Given the description of an element on the screen output the (x, y) to click on. 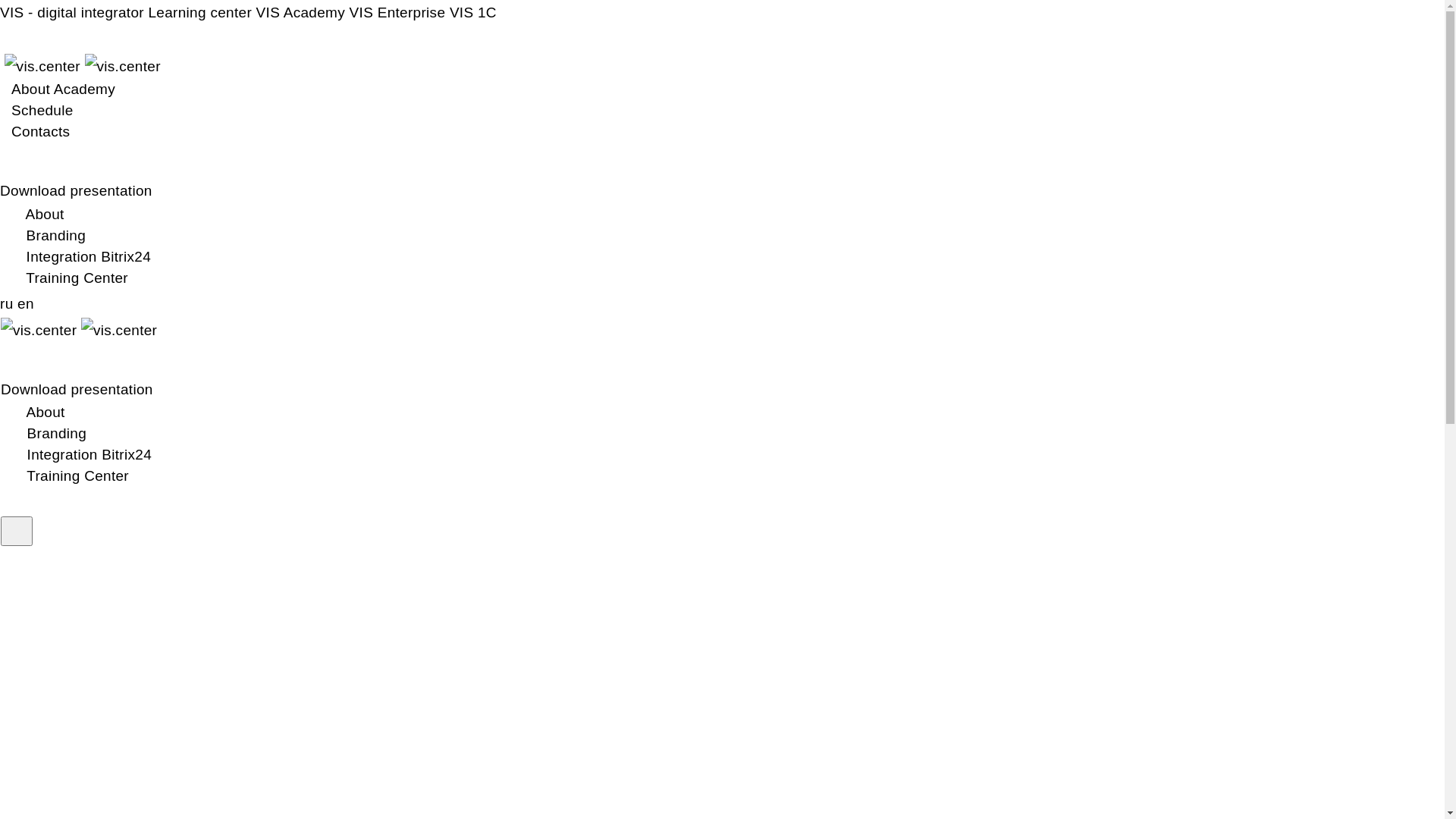
Training Center Element type: text (69, 277)
VIS Enterprise Element type: text (397, 12)
Integration Bitrix24 Element type: text (80, 256)
About Element type: text (37, 214)
Training Center Element type: text (70, 475)
Branding Element type: text (49, 433)
Contacts Element type: text (40, 131)
Learning center VIS Academy Element type: text (246, 12)
VIS - digital integrator Element type: text (72, 12)
Schedule Element type: text (42, 110)
About Academy Element type: text (63, 89)
Integration Bitrix24 Element type: text (81, 454)
ru Element type: text (8, 303)
Branding Element type: text (48, 235)
About Element type: text (38, 412)
      Element type: text (16, 531)
